Given the description of an element on the screen output the (x, y) to click on. 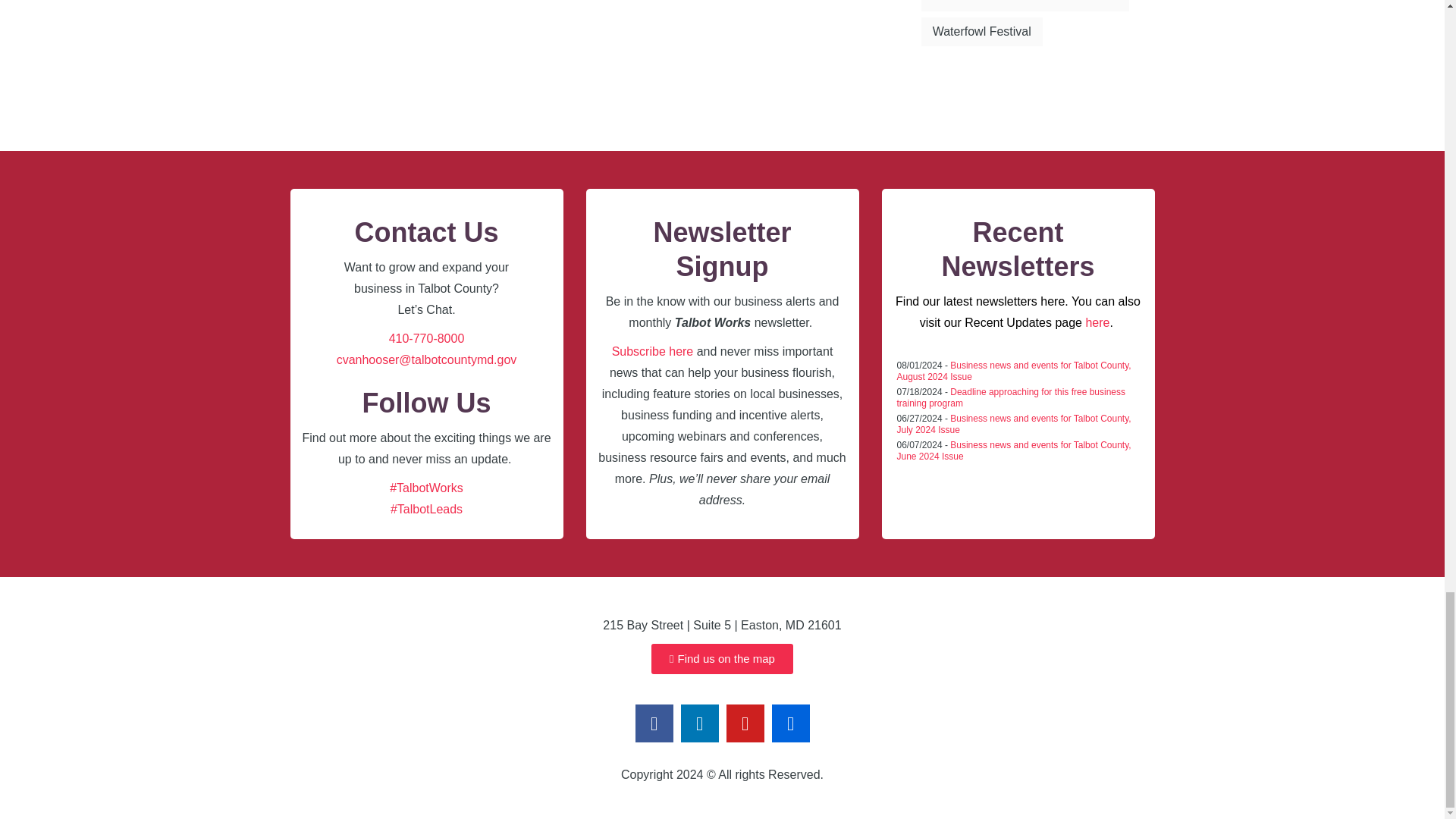
Business news and events for Talbot County, July 2024 Issue (1013, 423)
Business news and events for Talbot County, June 2024 Issue (1013, 450)
Deadline approaching for this free business training program (1010, 397)
